Given the description of an element on the screen output the (x, y) to click on. 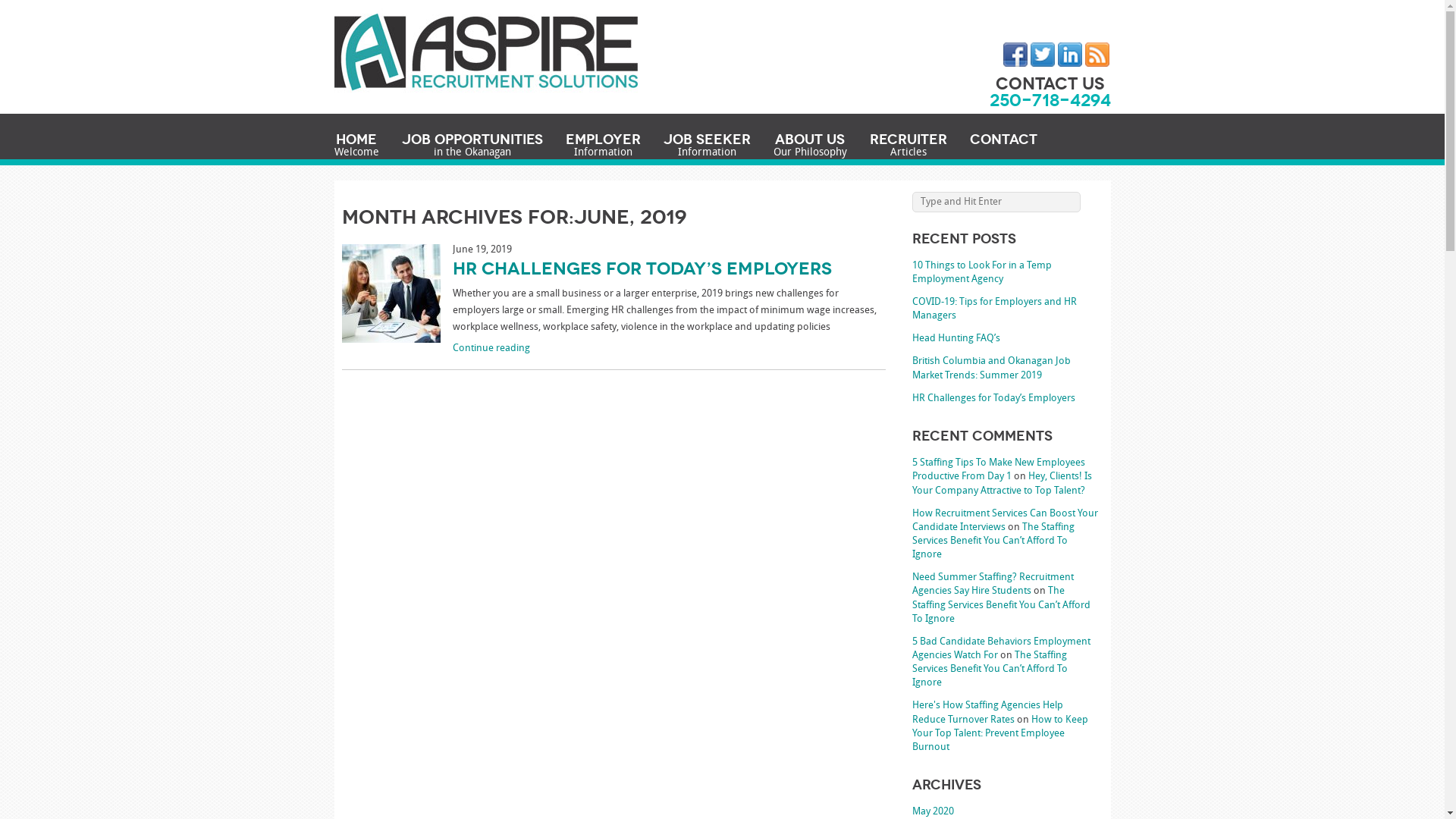
Recruiter
Articles Element type: text (907, 146)
How Recruitment Services Can Boost Your Candidate Interviews Element type: text (1005, 520)
5 Bad Candidate Behaviors Employment Agencies Watch For Element type: text (1001, 648)
RSS Element type: text (1096, 54)
Employer
Information Element type: text (602, 146)
Home
Welcome Element type: text (355, 146)
Need Summer Staffing? Recruitment Agencies Say Hire Students Element type: text (992, 584)
10 Things to Look For in a Temp Employment Agency Element type: text (981, 272)
Here's How Staffing Agencies Help Reduce Turnover Rates Element type: text (987, 712)
Job Opportunities
in the Okanagan Element type: text (471, 146)
COVID-19: Tips for Employers and HR Managers Element type: text (994, 308)
Facebook Element type: text (1014, 54)
Job Seeker
Information Element type: text (705, 146)
How to Keep Your Top Talent: Prevent Employee Burnout Element type: text (1000, 733)
Continue reading Element type: text (668, 348)
Hey, Clients! Is Your Company Attractive to Top Talent? Element type: text (1002, 483)
About Us
Our Philosophy Element type: text (810, 146)
May 2020 Element type: text (932, 811)
5 Staffing Tips To Make New Employees Productive From Day 1 Element type: text (998, 469)
Twitter Element type: text (1041, 54)
LinkedIn Element type: text (1069, 54)
Contact Element type: text (1002, 139)
British Columbia and Okanagan Job Market Trends: Summer 2019 Element type: text (991, 367)
